Given the description of an element on the screen output the (x, y) to click on. 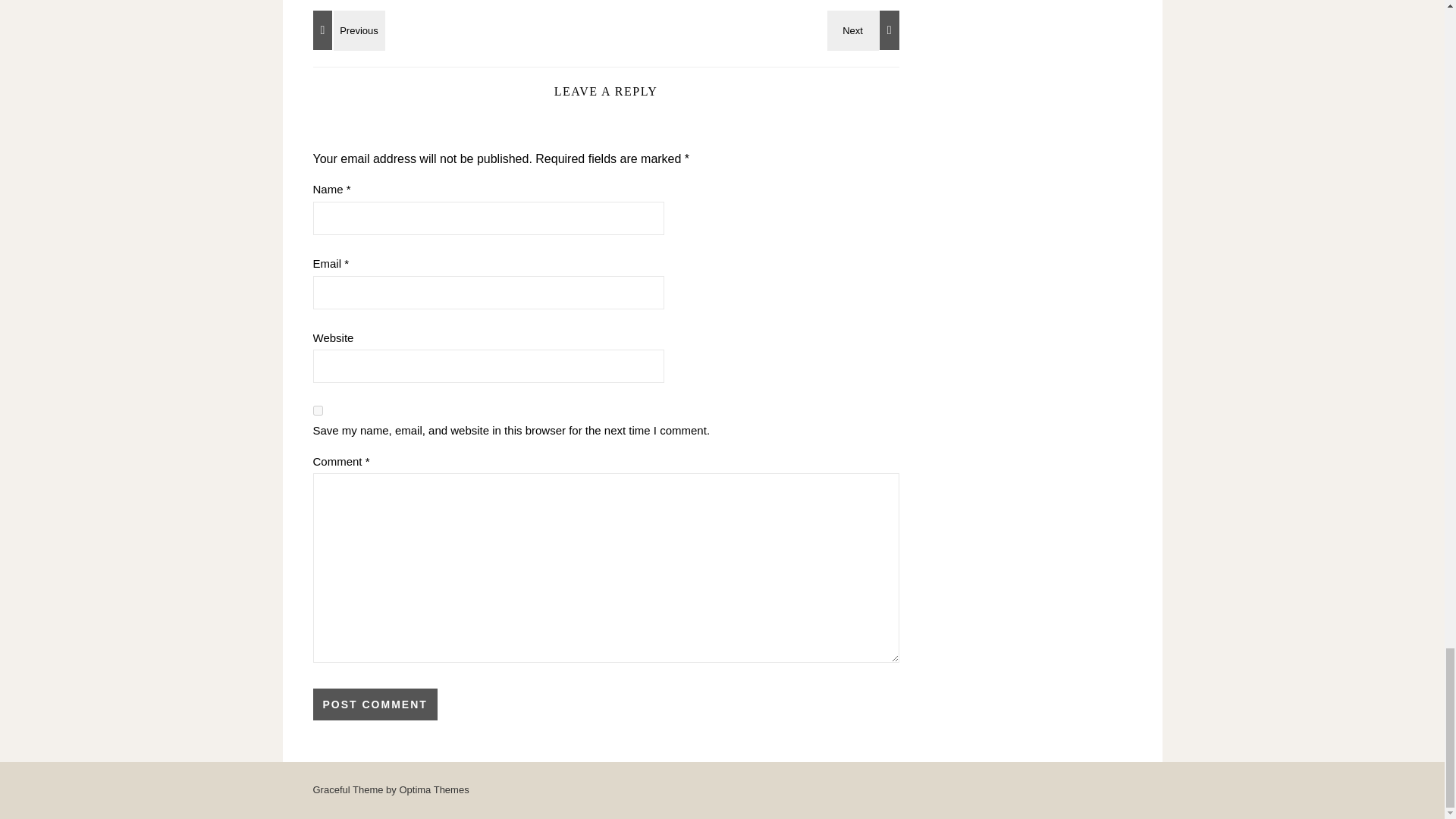
yes (317, 410)
Post Comment (374, 704)
Post Comment (374, 704)
